Given the description of an element on the screen output the (x, y) to click on. 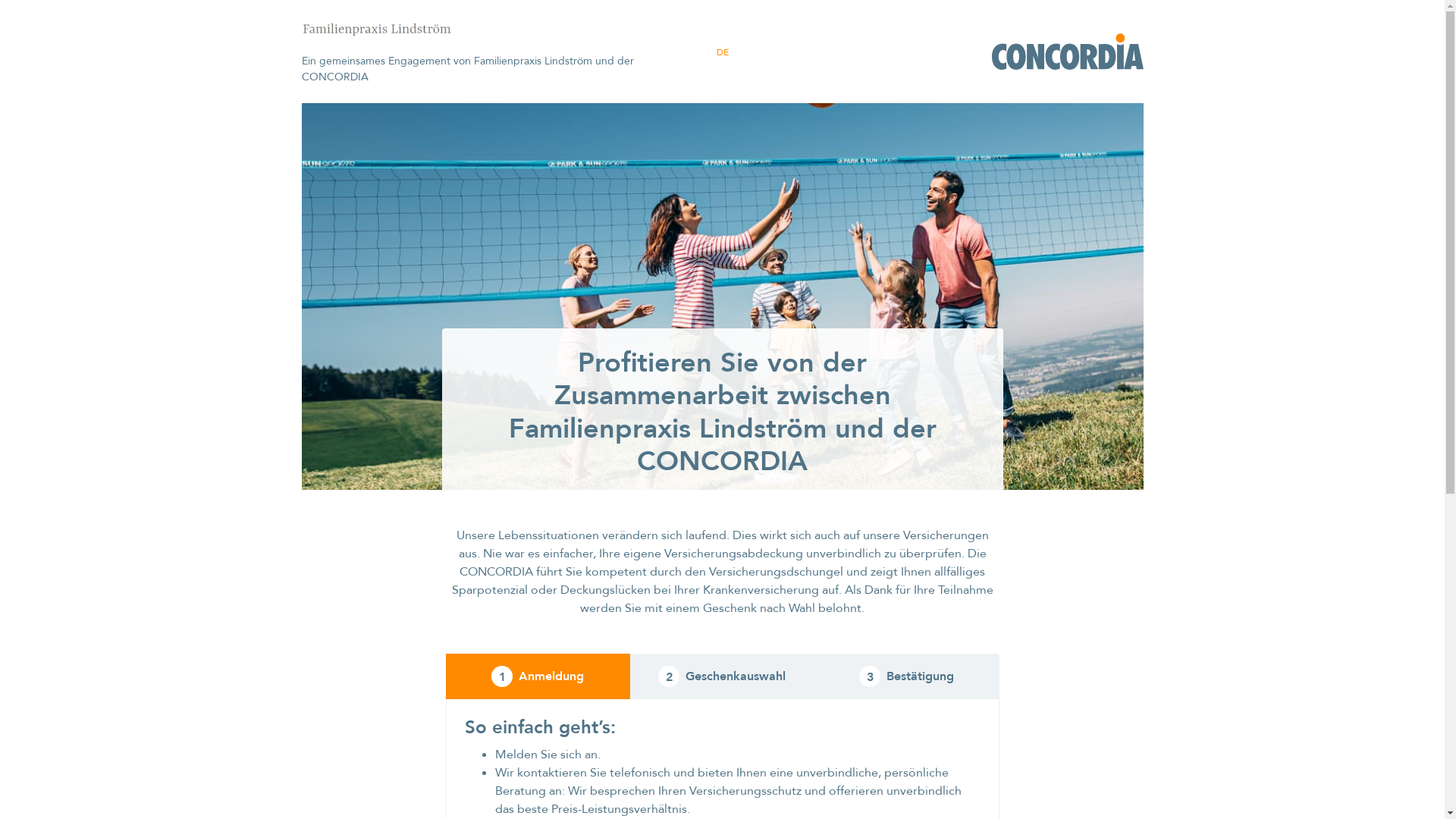
DE Element type: text (721, 52)
